Given the description of an element on the screen output the (x, y) to click on. 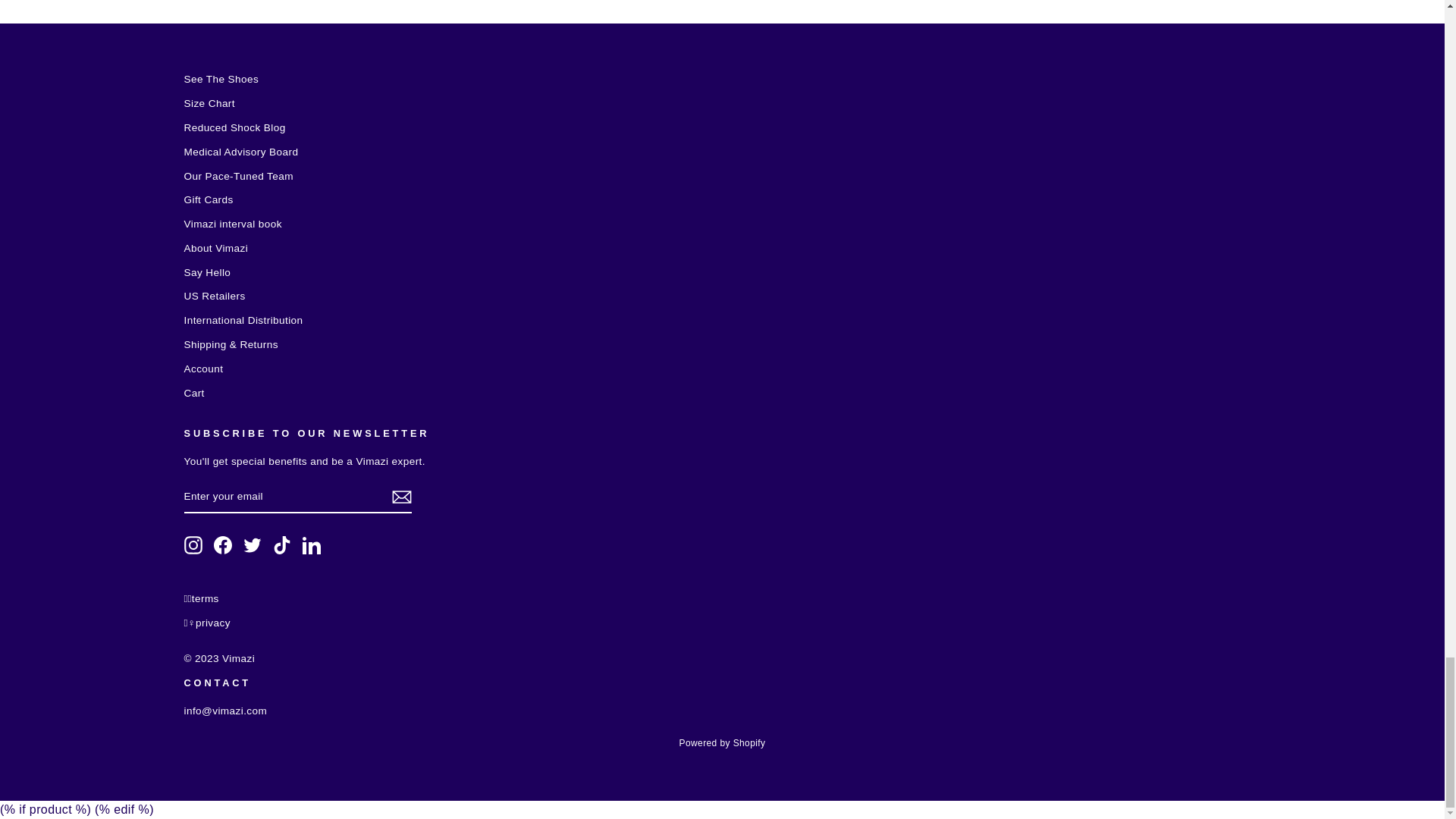
icon-email (400, 497)
Vimazi on LinkedIn (310, 545)
Vimazi on Facebook (222, 545)
twitter (251, 545)
Vimazi on TikTok (282, 545)
Vimazi on Twitter (251, 545)
Vimazi on Instagram (192, 545)
instagram (192, 545)
